Given the description of an element on the screen output the (x, y) to click on. 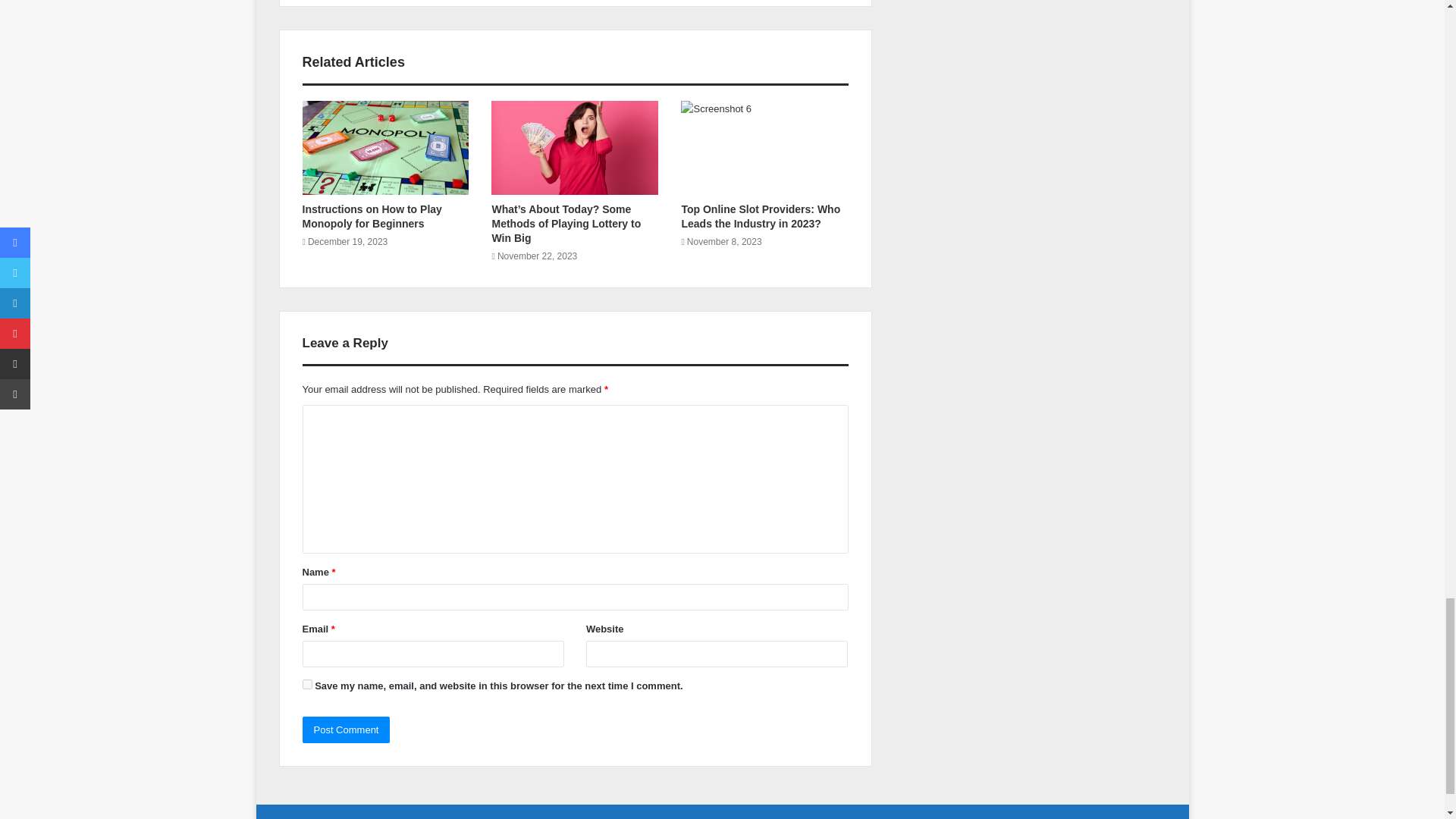
yes (306, 684)
Post Comment (345, 729)
